Given the description of an element on the screen output the (x, y) to click on. 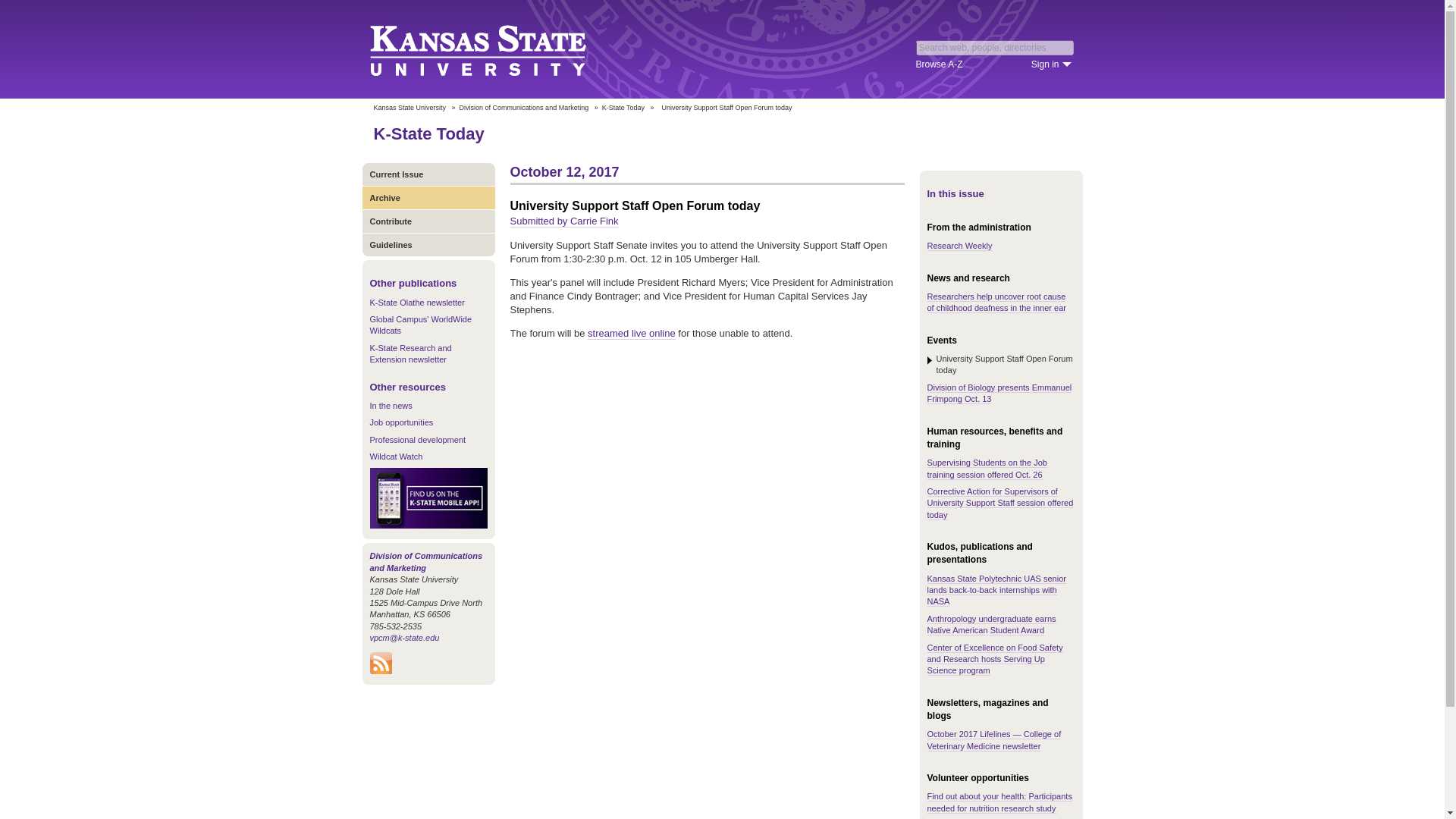
Search web, people, directories (994, 47)
Kansas State University (408, 107)
K-State Today (427, 133)
Kansas State University (496, 49)
Guidelines (428, 244)
Submitted by Carrie Fink (563, 221)
Division of Communications and Marketing (524, 107)
